Given the description of an element on the screen output the (x, y) to click on. 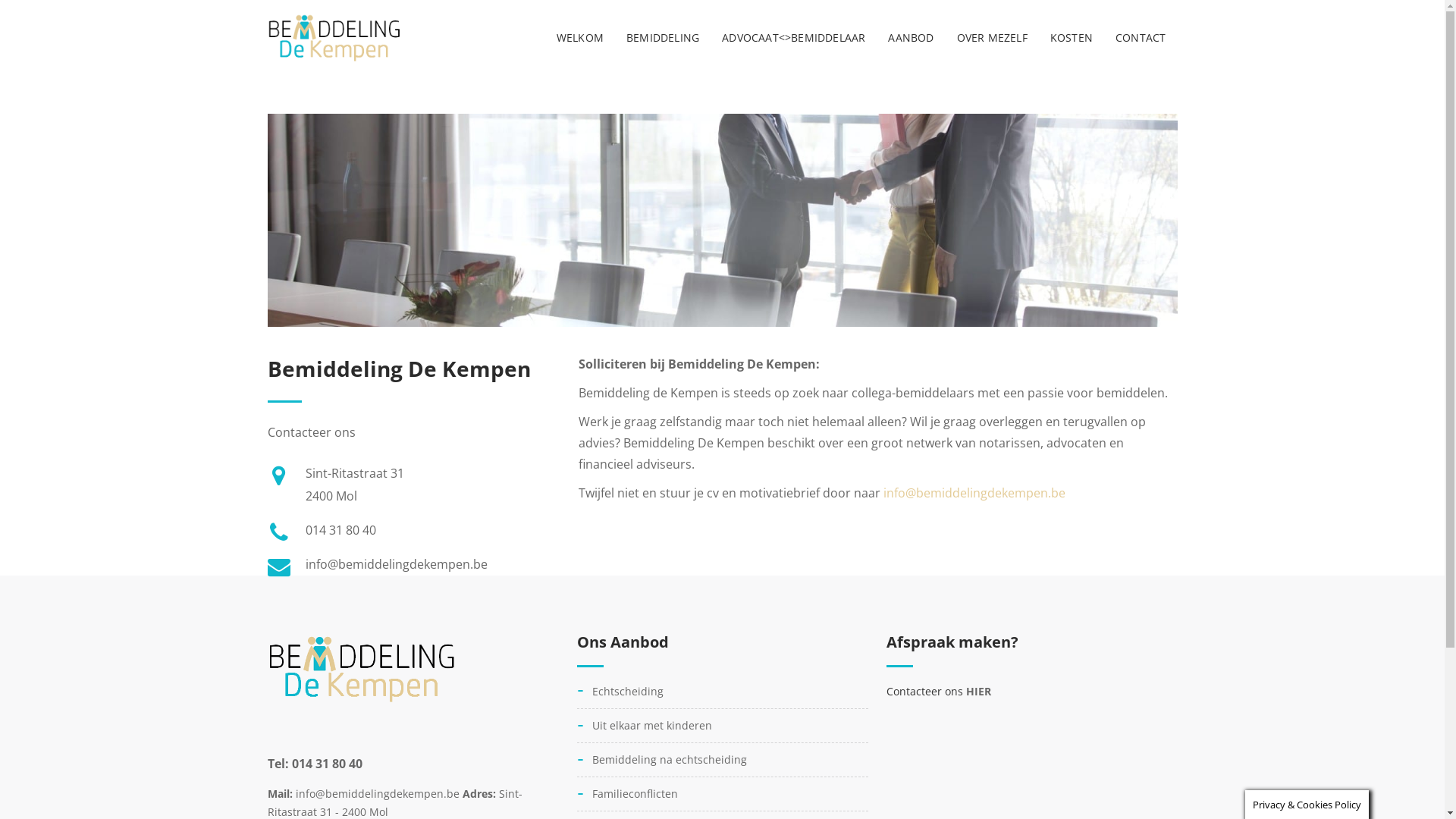
CONTACT Element type: text (1140, 37)
Bemiddeling na echtscheiding Element type: text (721, 759)
ADVOCAAT<>BEMIDDELAAR Element type: text (793, 37)
HIER Element type: text (978, 691)
Uit elkaar met kinderen Element type: text (721, 725)
Familieconflicten Element type: text (721, 793)
Tel: 014 31 80 40 Element type: text (313, 763)
OVER MEZELF Element type: text (991, 37)
BEMIDDELING Element type: text (662, 37)
Bemiddeling De Kempen Element type: hover (333, 37)
WELKOM Element type: text (580, 37)
KOSTEN Element type: text (1071, 37)
Echtscheiding Element type: text (721, 695)
info@bemiddelingdekempen.be Element type: text (973, 492)
AANBOD Element type: text (910, 37)
Mail: info@bemiddelingdekempen.be Element type: text (363, 793)
